Given the description of an element on the screen output the (x, y) to click on. 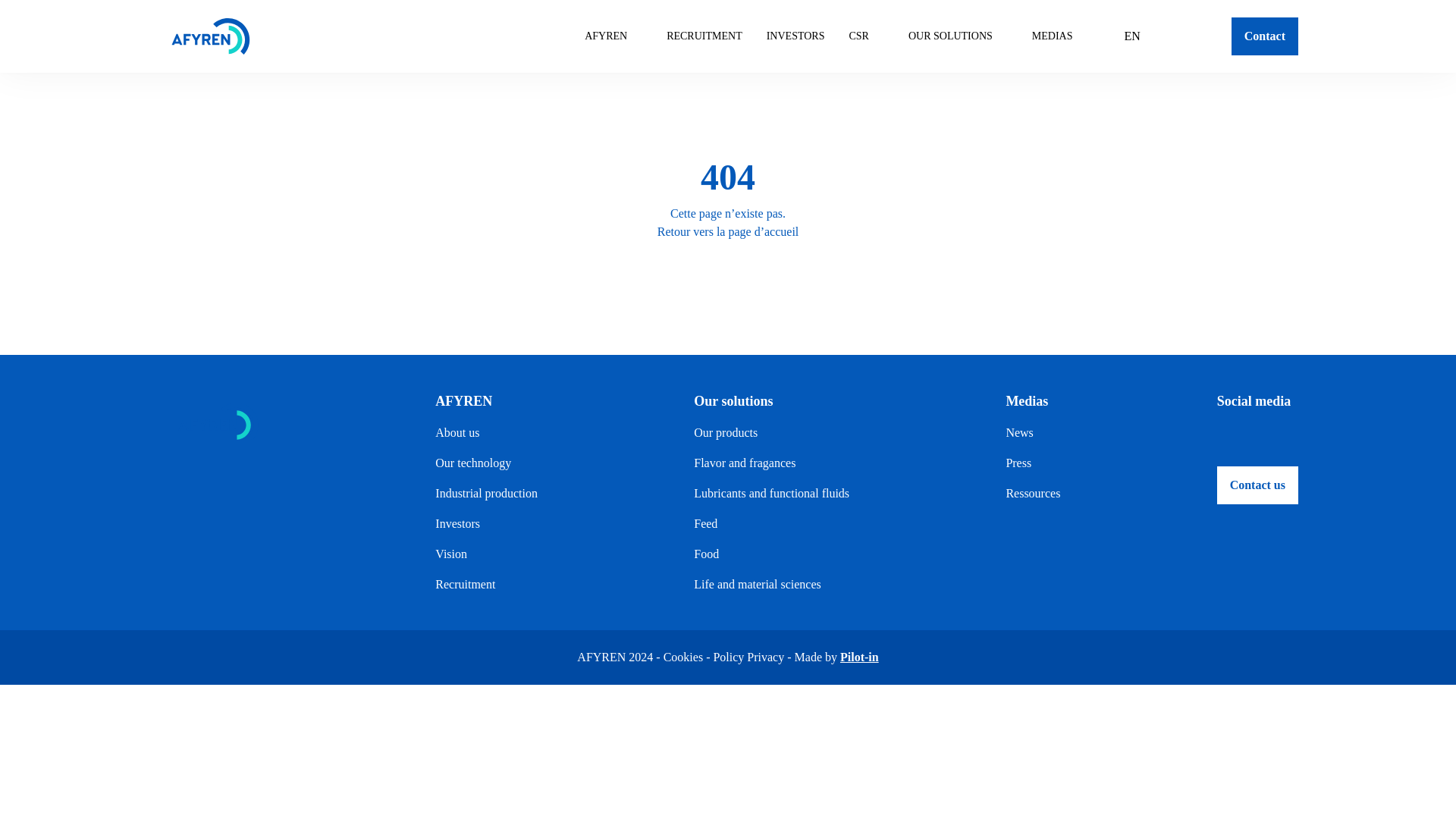
Recruitment (704, 36)
Vision (486, 554)
About us (486, 433)
Recruitment (486, 584)
INVESTORS (796, 36)
Industrial production (486, 493)
Feed (771, 524)
Lubricants and functional fluids (771, 493)
Investors (486, 524)
Flavor and fragances (771, 463)
